Given the description of an element on the screen output the (x, y) to click on. 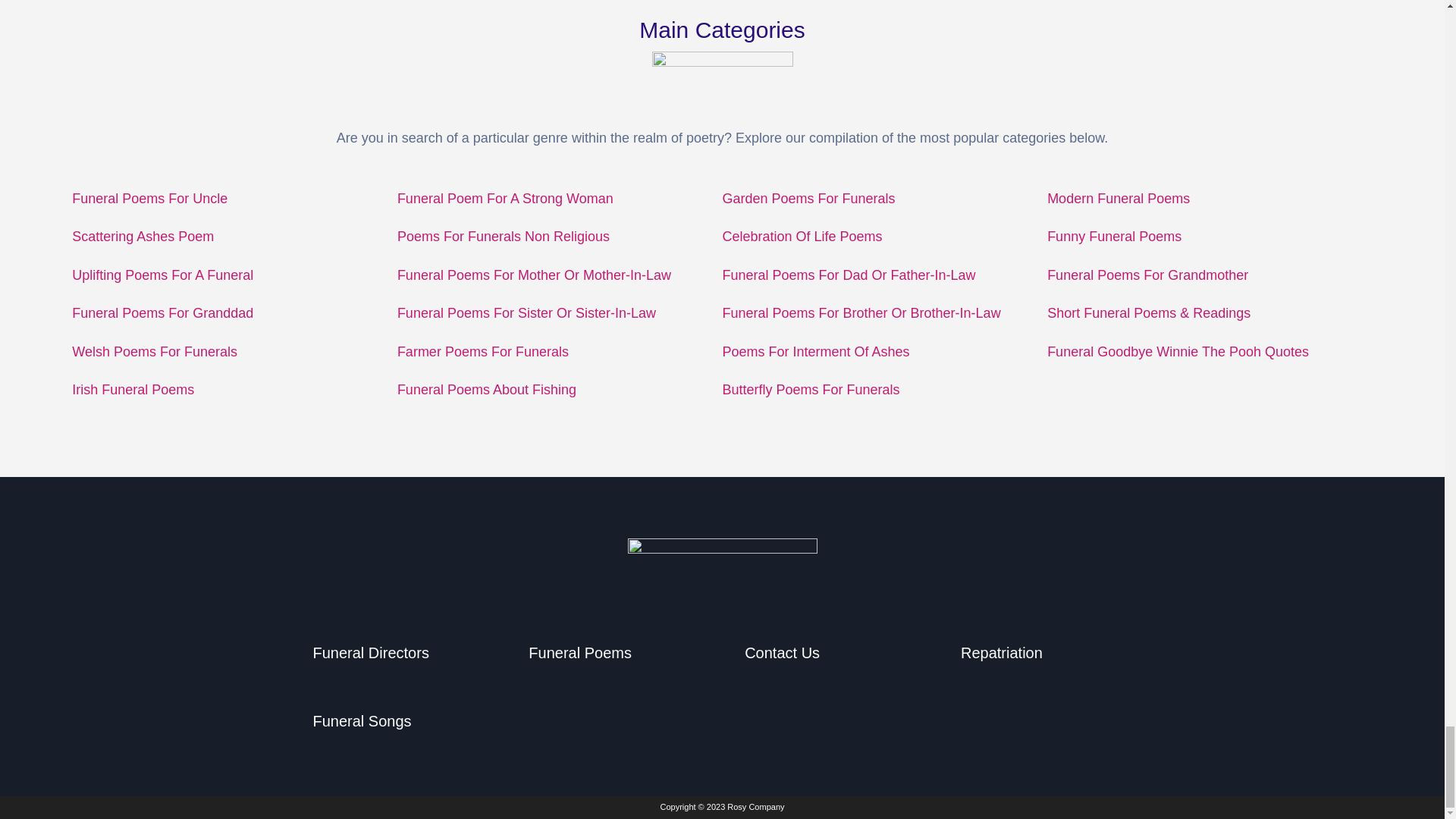
Funeral Poems For Uncle (149, 198)
Funeral Poem For A Strong Woman (504, 198)
Modern Funeral Poems (1117, 198)
Garden Poems For Funerals (808, 198)
Rosy Logo Transparent (721, 568)
